Given the description of an element on the screen output the (x, y) to click on. 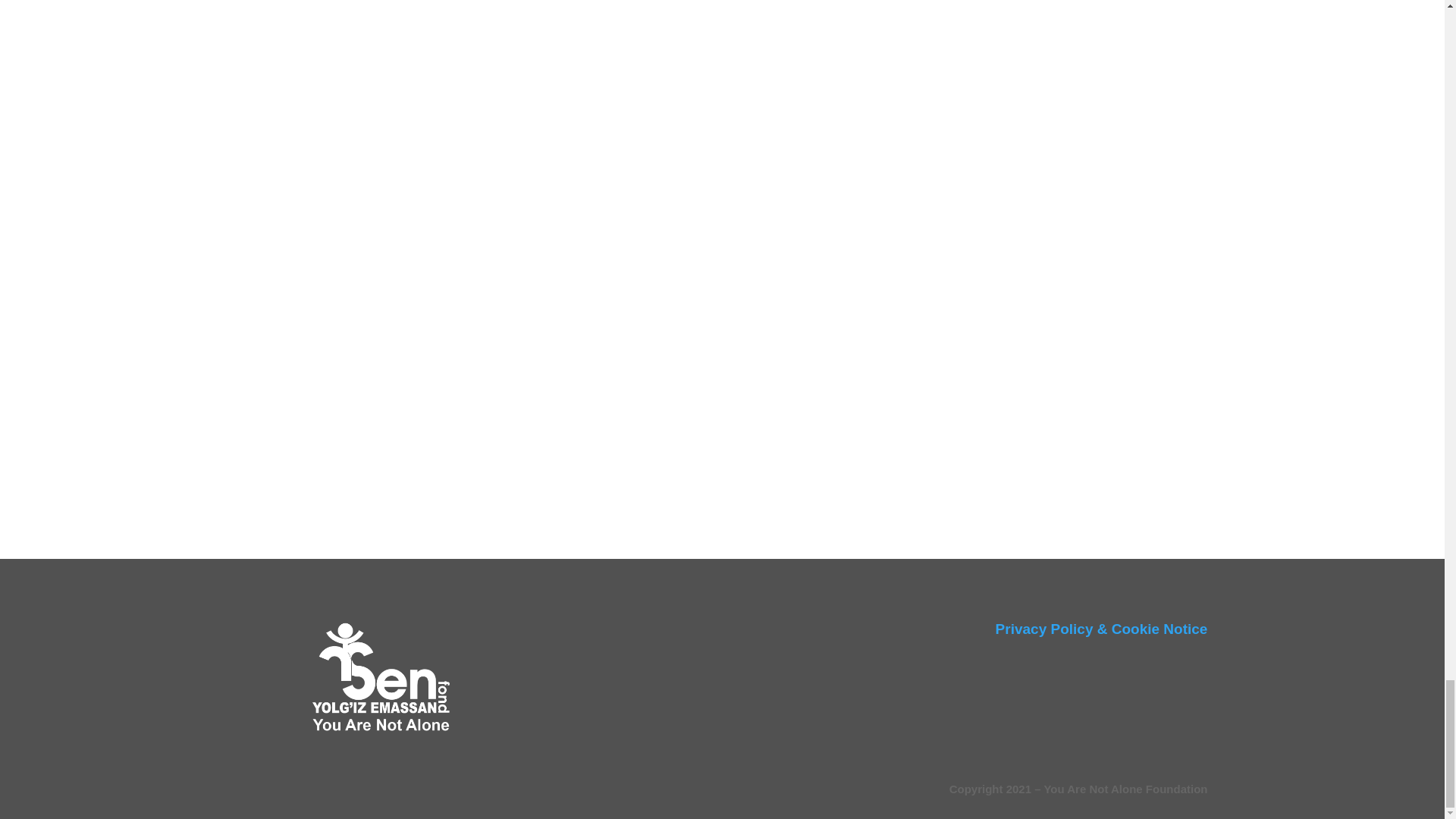
sen-uzArtboard 1 (380, 679)
